Given the description of an element on the screen output the (x, y) to click on. 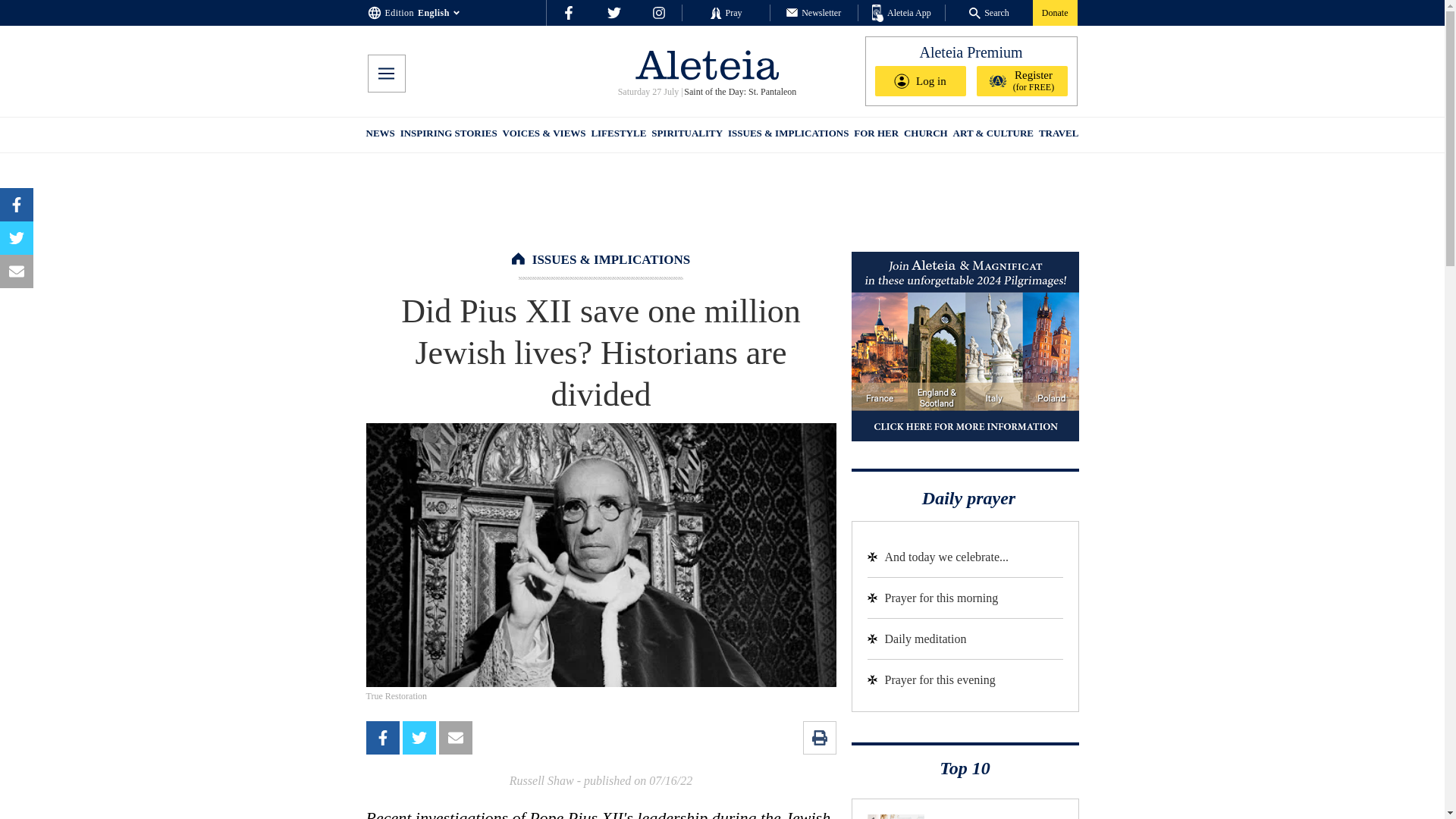
TRAVEL (1058, 134)
Saint of the Day: St. Pantaleon (739, 91)
Log in (920, 81)
Pray (725, 12)
INSPIRING STORIES (448, 134)
Search (989, 12)
FOR HER (875, 134)
LIFESTYLE (618, 134)
Aleteia App (901, 13)
CHURCH (925, 134)
Donate (1054, 12)
Newsletter (813, 12)
SPIRITUALITY (686, 134)
